Given the description of an element on the screen output the (x, y) to click on. 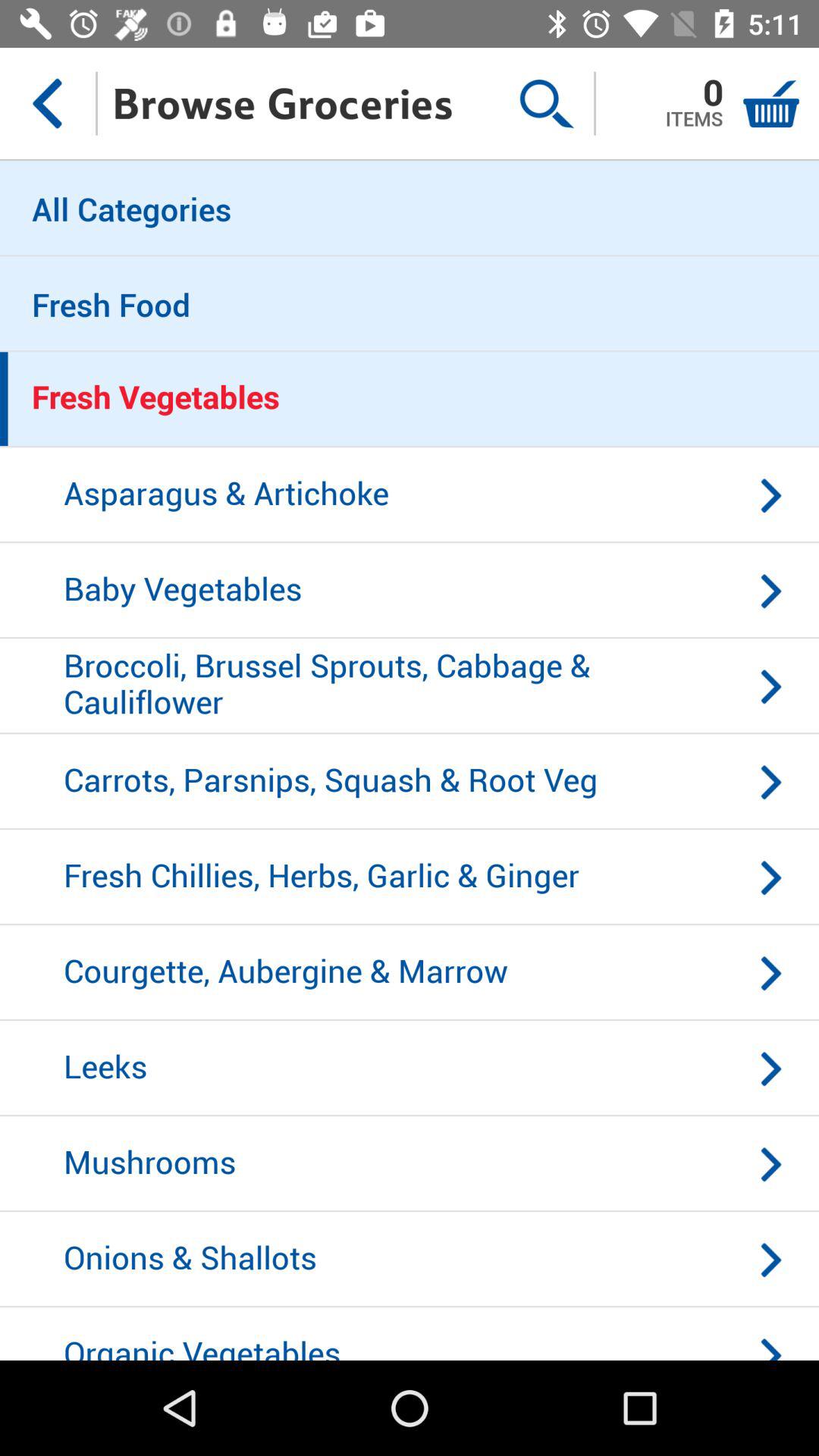
jump until courgette, aubergine & marrow icon (409, 972)
